Given the description of an element on the screen output the (x, y) to click on. 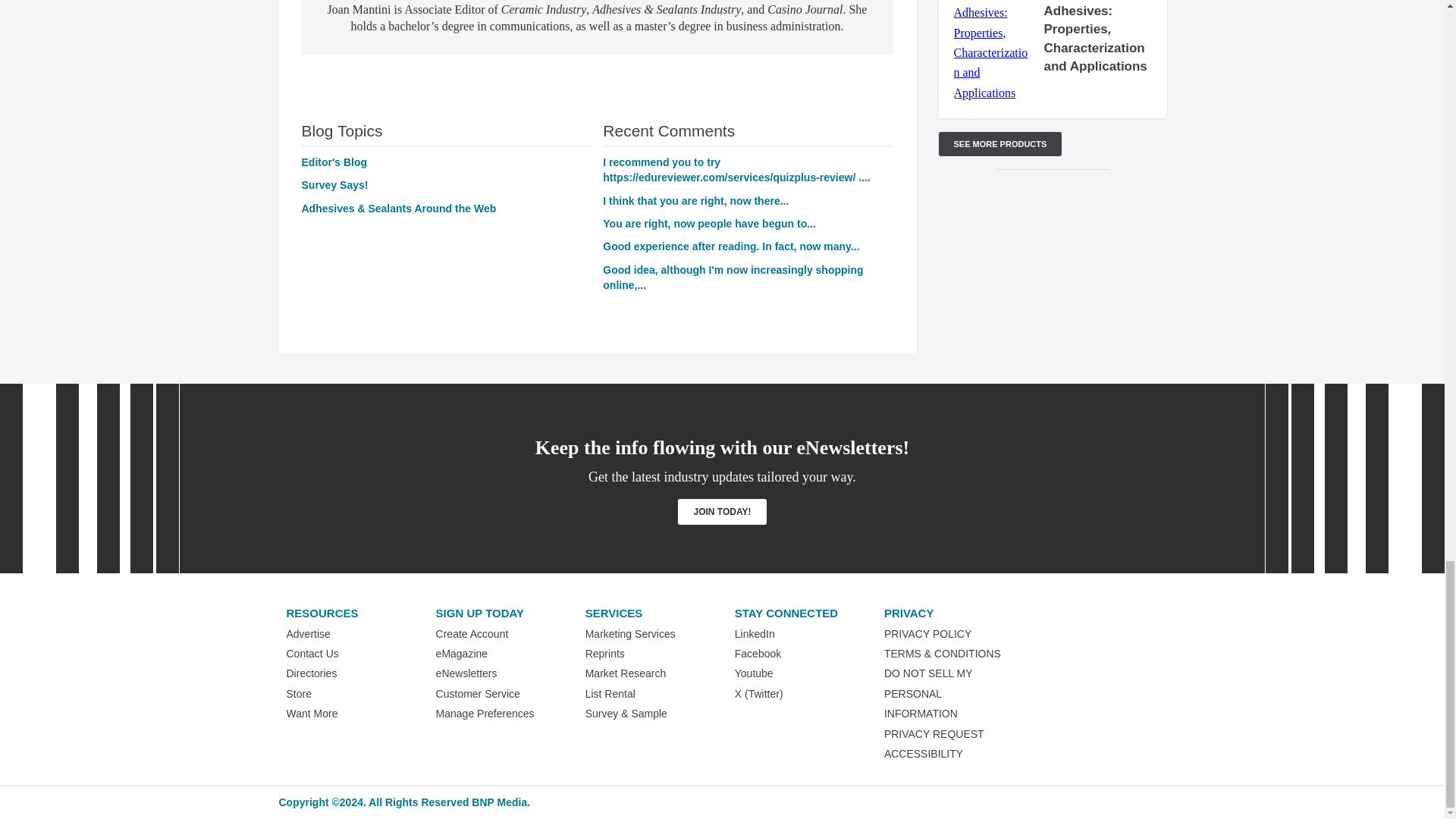
Cloud-Based Computing (695, 200)
Four-Day School Week (735, 169)
Holiday Shopping Plans (732, 277)
Which Little Piggie? (708, 223)
Survey Says! (334, 184)
Interviewing Job Candidates (730, 246)
Editor's Blog (334, 162)
